Given the description of an element on the screen output the (x, y) to click on. 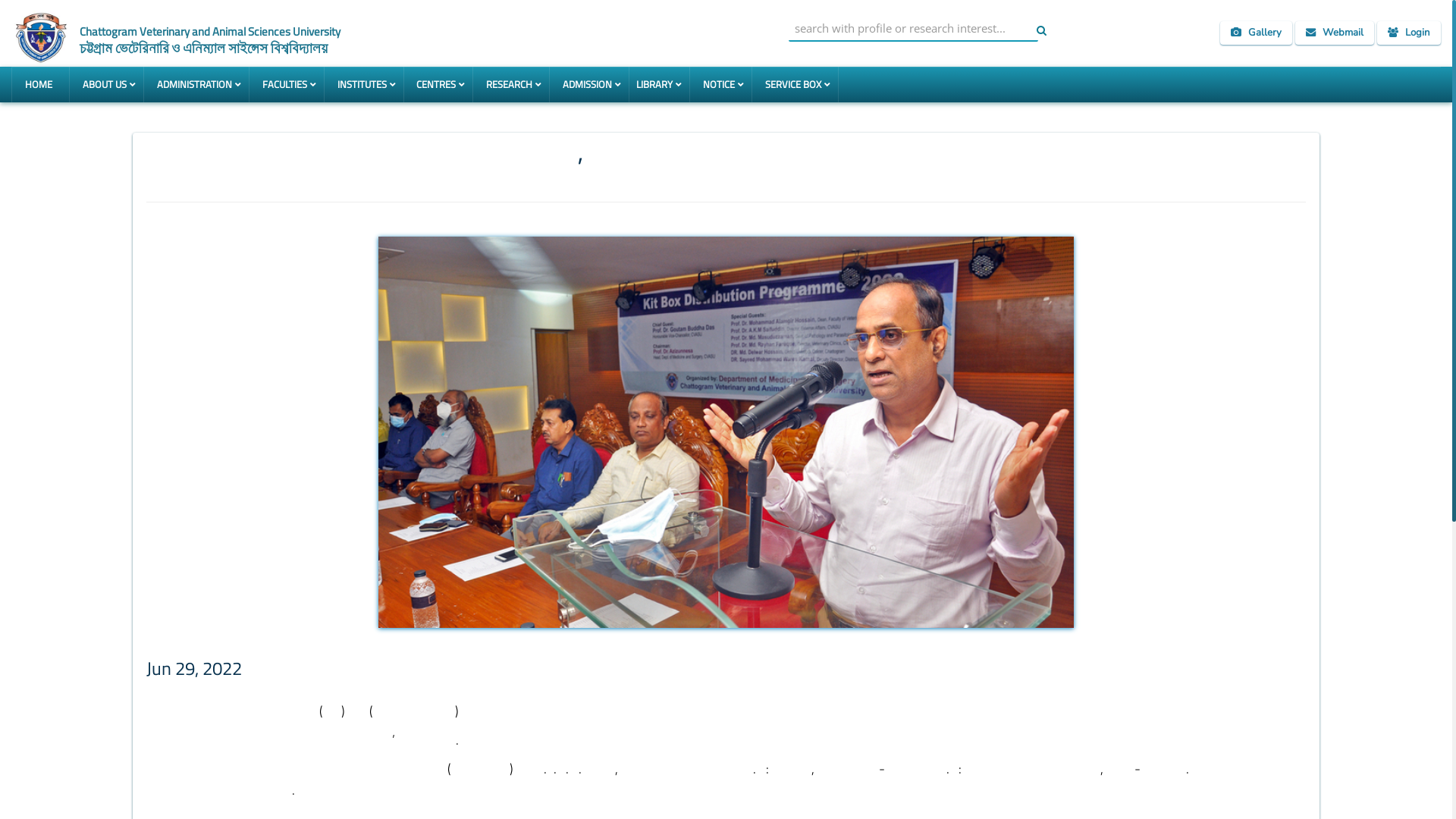
RESEARCH Element type: text (510, 84)
FACULTIES Element type: text (285, 84)
HOME Element type: text (40, 84)
   Login Element type: text (1408, 32)
LIBRARY Element type: text (658, 84)
ABOUT US Element type: text (106, 84)
ADMINISTRATION Element type: text (195, 84)
   Gallery Element type: text (1256, 32)
NOTICE Element type: text (720, 84)
CENTRES Element type: text (438, 84)
ADMISSION Element type: text (588, 84)
   Webmail Element type: text (1334, 32)
INSTITUTES Element type: text (363, 84)
Search with Profile or Research Interest Element type: hover (913, 28)
SERVICE BOX Element type: text (794, 84)
